Given the description of an element on the screen output the (x, y) to click on. 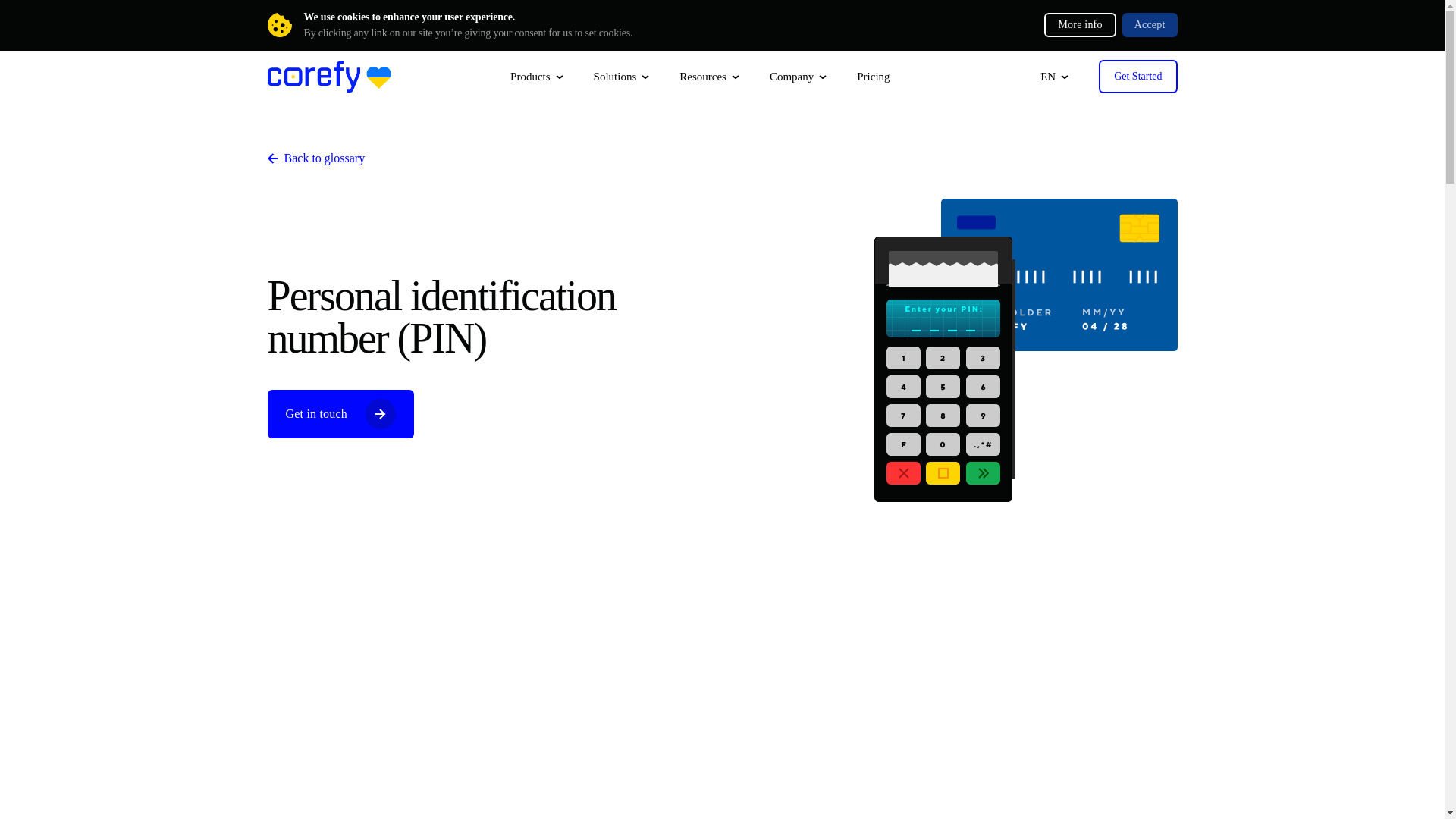
More info (1079, 24)
Accept (1149, 24)
